Given the description of an element on the screen output the (x, y) to click on. 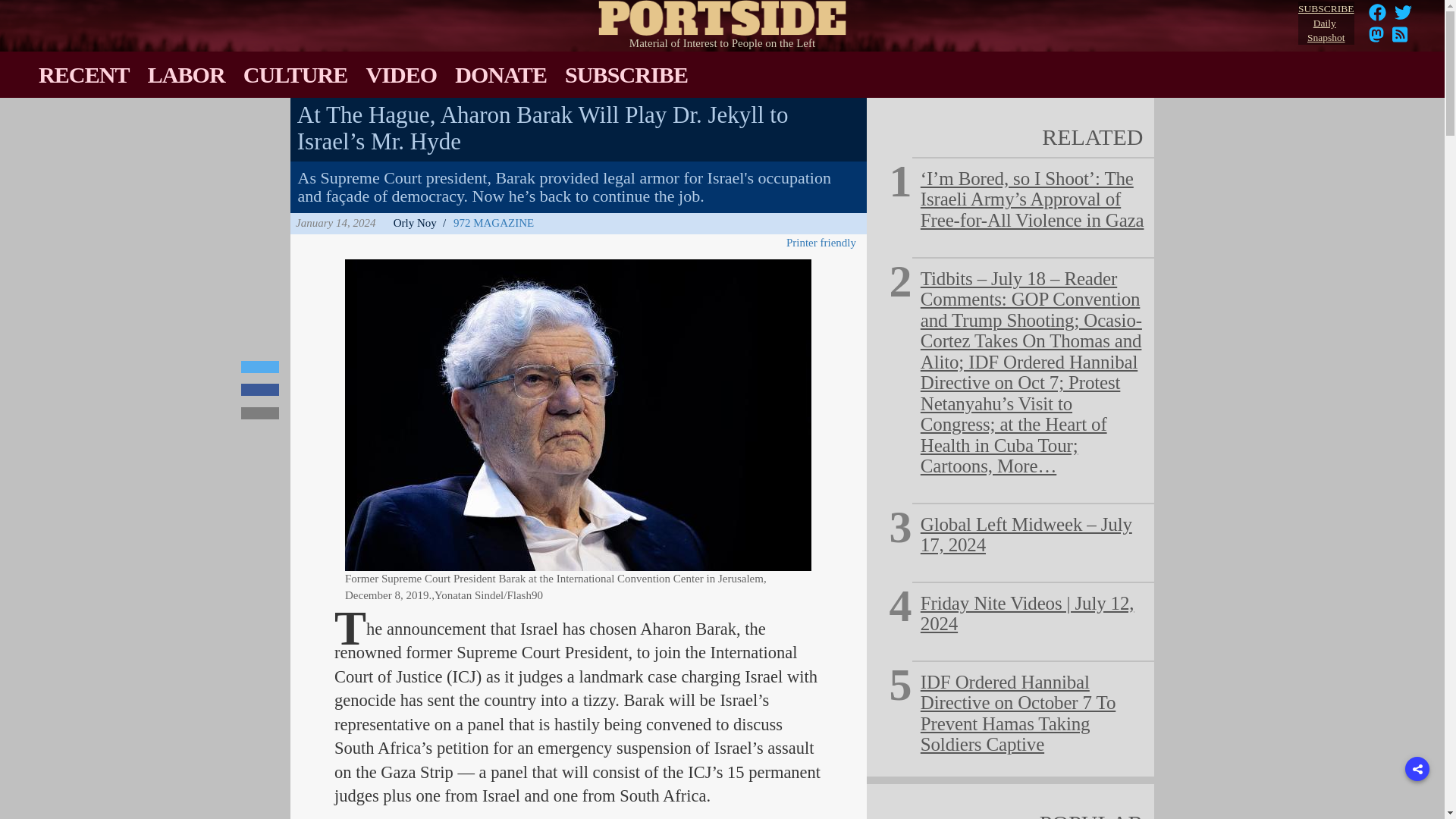
VIDEO (400, 74)
Twitter (1403, 11)
DONATE (500, 74)
Facebook (260, 389)
Mail (260, 413)
Mastodon (1376, 39)
RECENT (83, 74)
LABOR (186, 74)
SUBSCRIBE (626, 74)
972 MAGAZINE (493, 222)
CULTURE (295, 74)
Follow Portside on Facebook (1377, 16)
Twitter (260, 367)
Facebook (1377, 11)
Follow Portside's RSS feed (1399, 39)
